Given the description of an element on the screen output the (x, y) to click on. 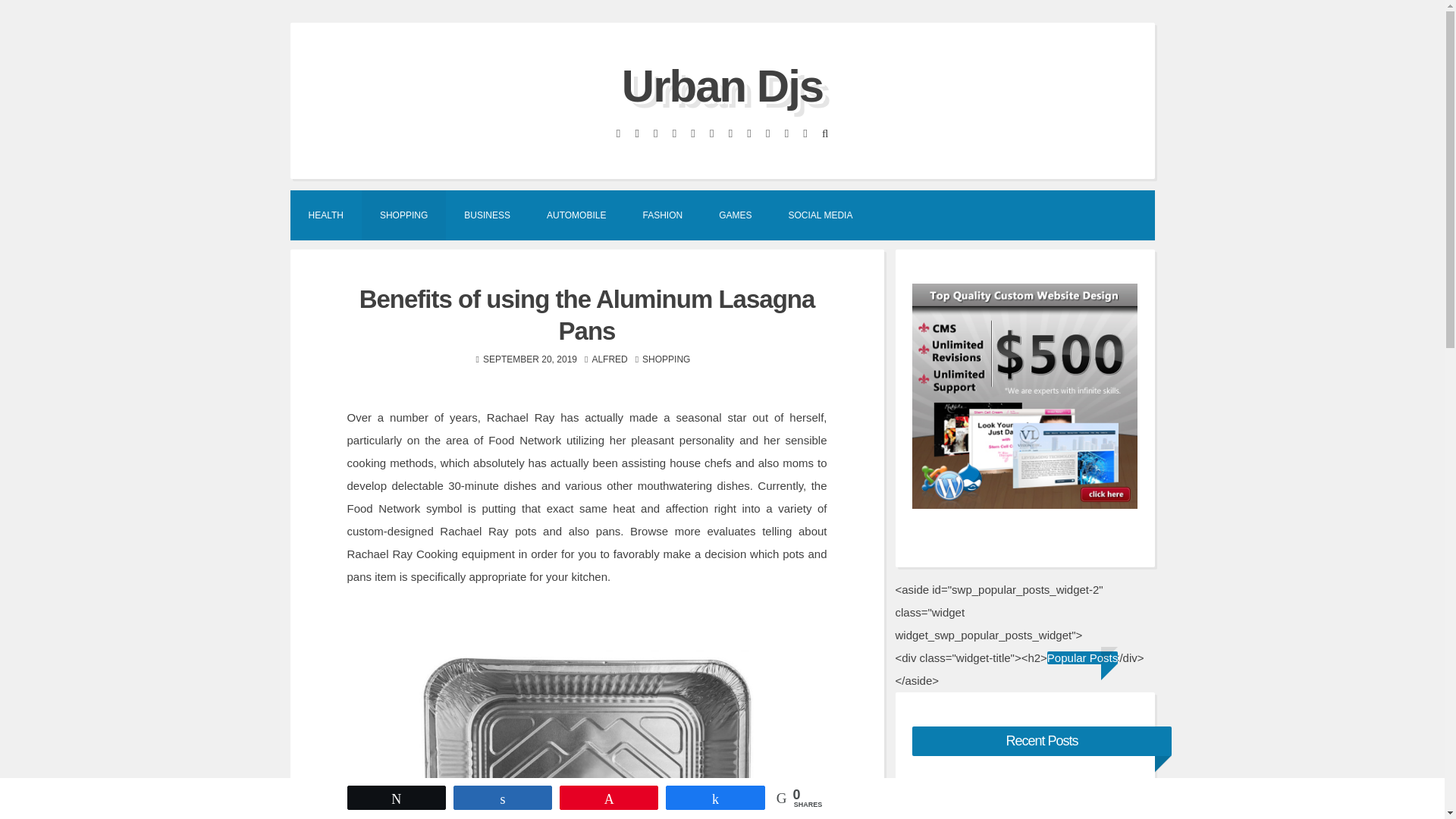
SOCIAL MEDIA (820, 214)
Urban Djs (721, 85)
AUTOMOBILE (576, 214)
SHOPPING (403, 214)
BUSINESS (486, 214)
SHOPPING (666, 358)
GAMES (735, 214)
FASHION (662, 214)
HEALTH (325, 214)
